Given the description of an element on the screen output the (x, y) to click on. 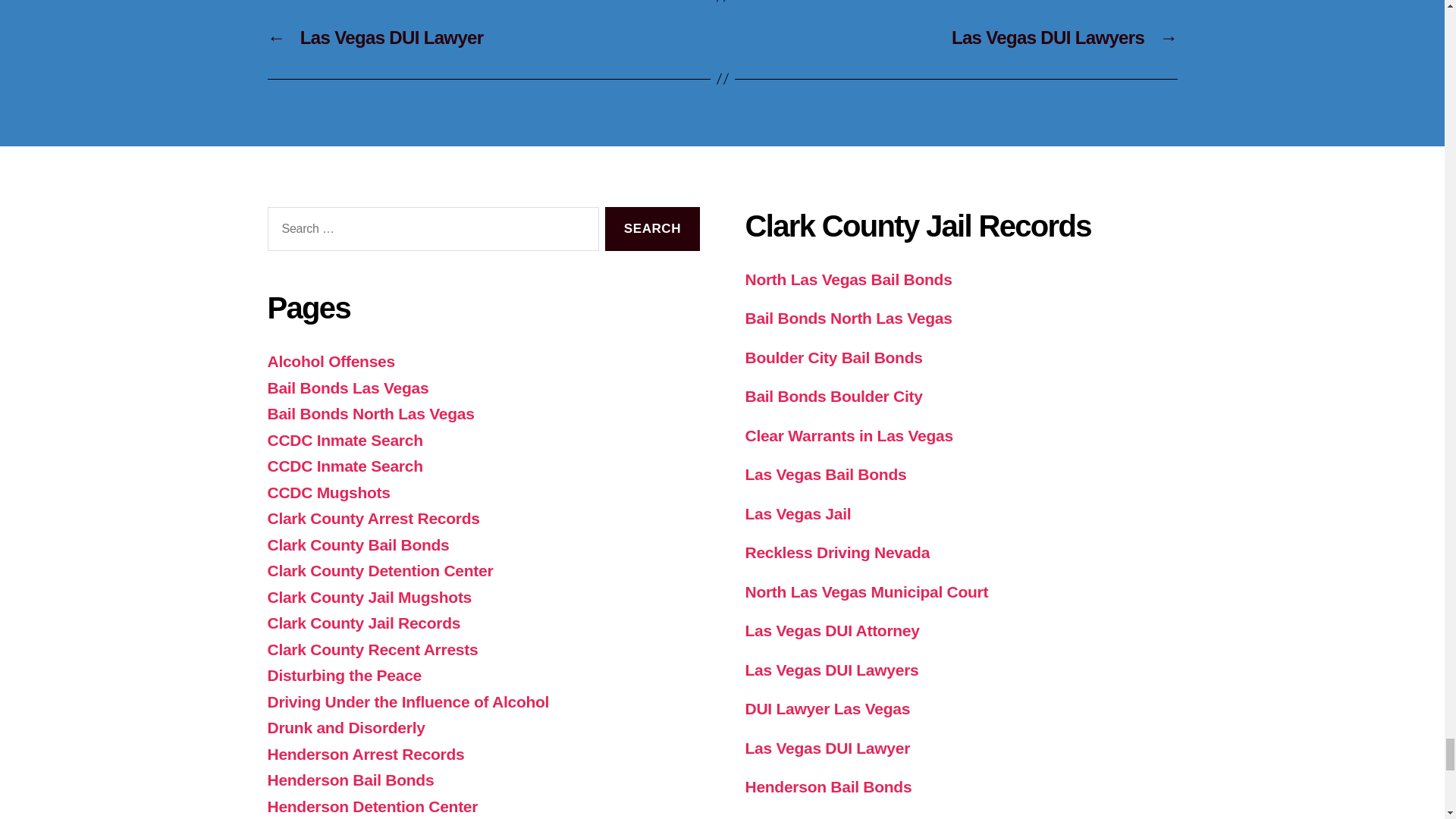
Search (651, 229)
Search (651, 229)
